Given the description of an element on the screen output the (x, y) to click on. 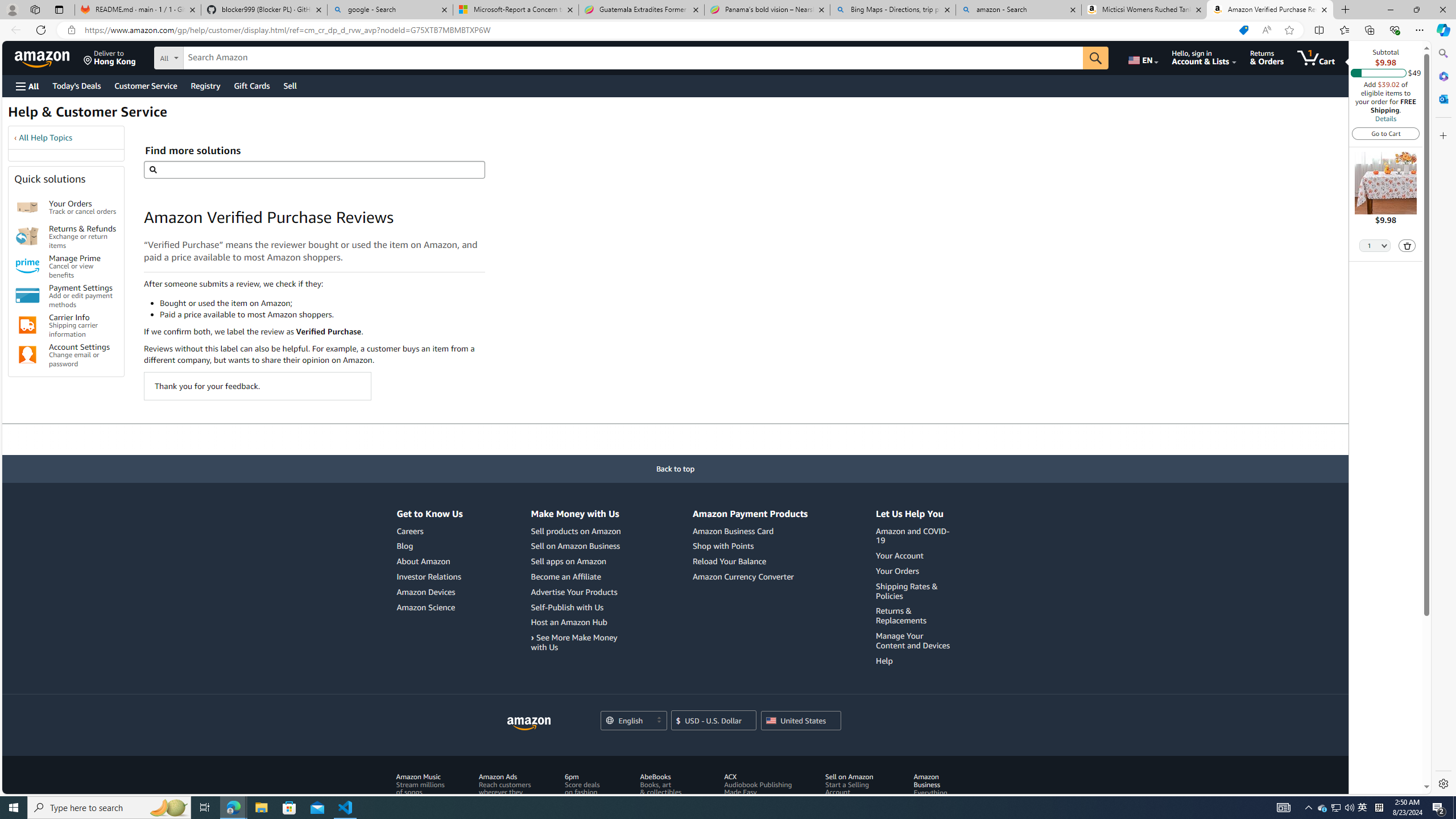
Returns & Orders (1266, 57)
Amazon (43, 57)
Choose a language for shopping. (632, 720)
Registry (205, 85)
Back to top (675, 468)
Careers (429, 530)
Hello, sign in Account & Lists (1203, 57)
Manage Your Content and Devices (914, 640)
Quantity Selector (1374, 245)
Shop with Points (749, 546)
Payment Settings Add or edit payment methods (82, 295)
Open Menu (26, 86)
